Given the description of an element on the screen output the (x, y) to click on. 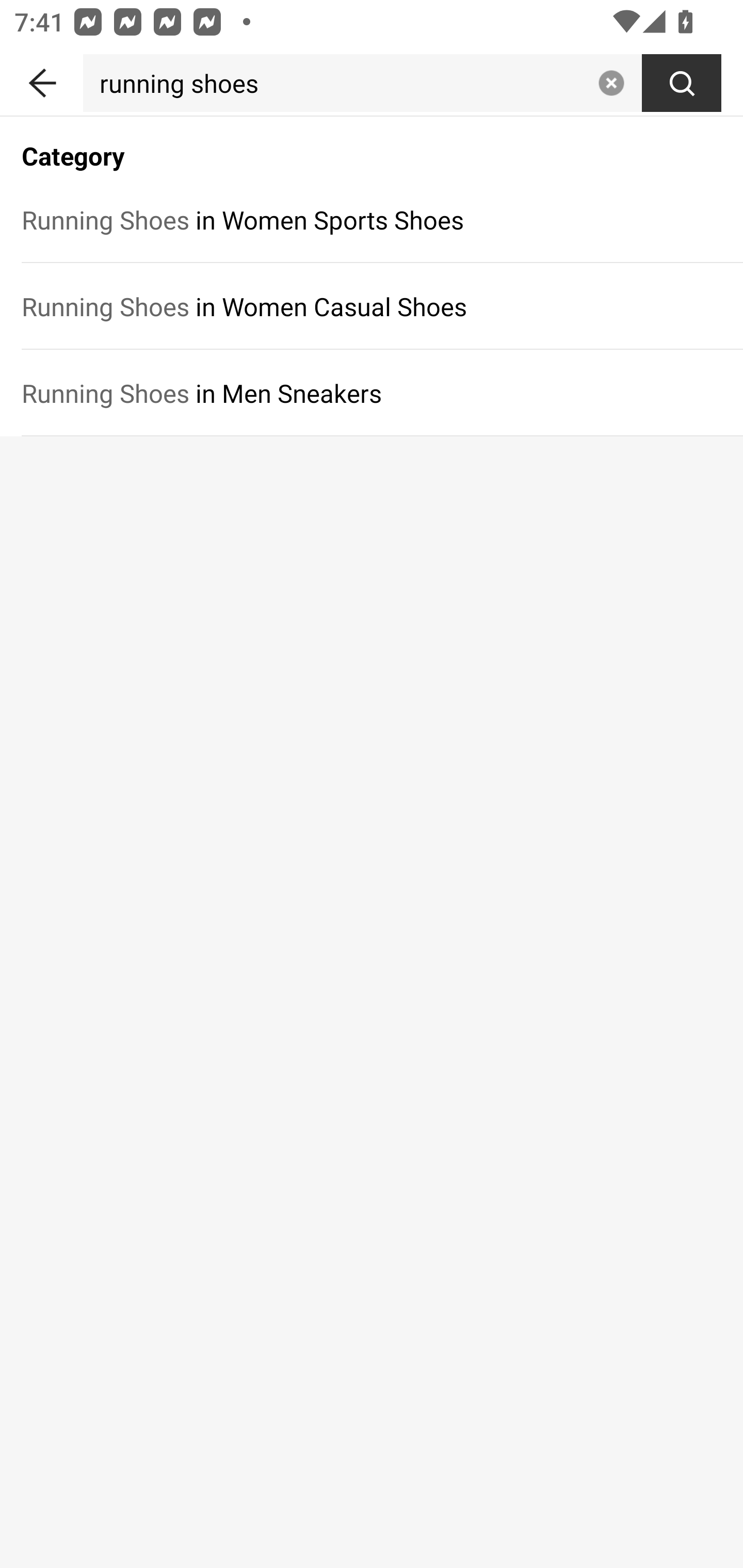
BACK (41, 79)
running shoes (336, 82)
Clear (610, 82)
Category (371, 145)
Running Shoes in Women Sports Shoes (371, 219)
Running Shoes in Women Casual Shoes (371, 306)
Running Shoes in Men Sneakers (371, 392)
